Given the description of an element on the screen output the (x, y) to click on. 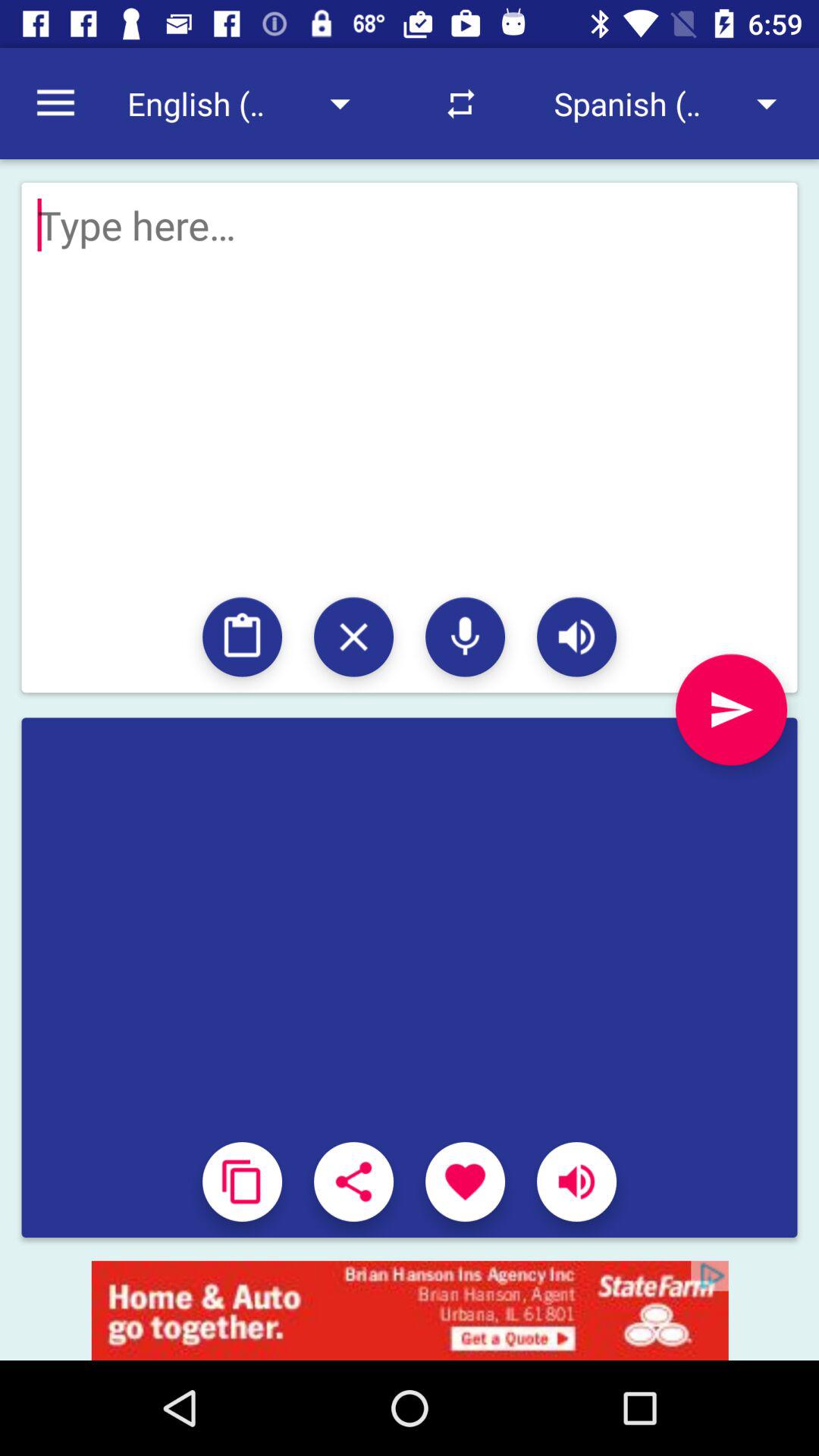
to sent button (731, 709)
